Given the description of an element on the screen output the (x, y) to click on. 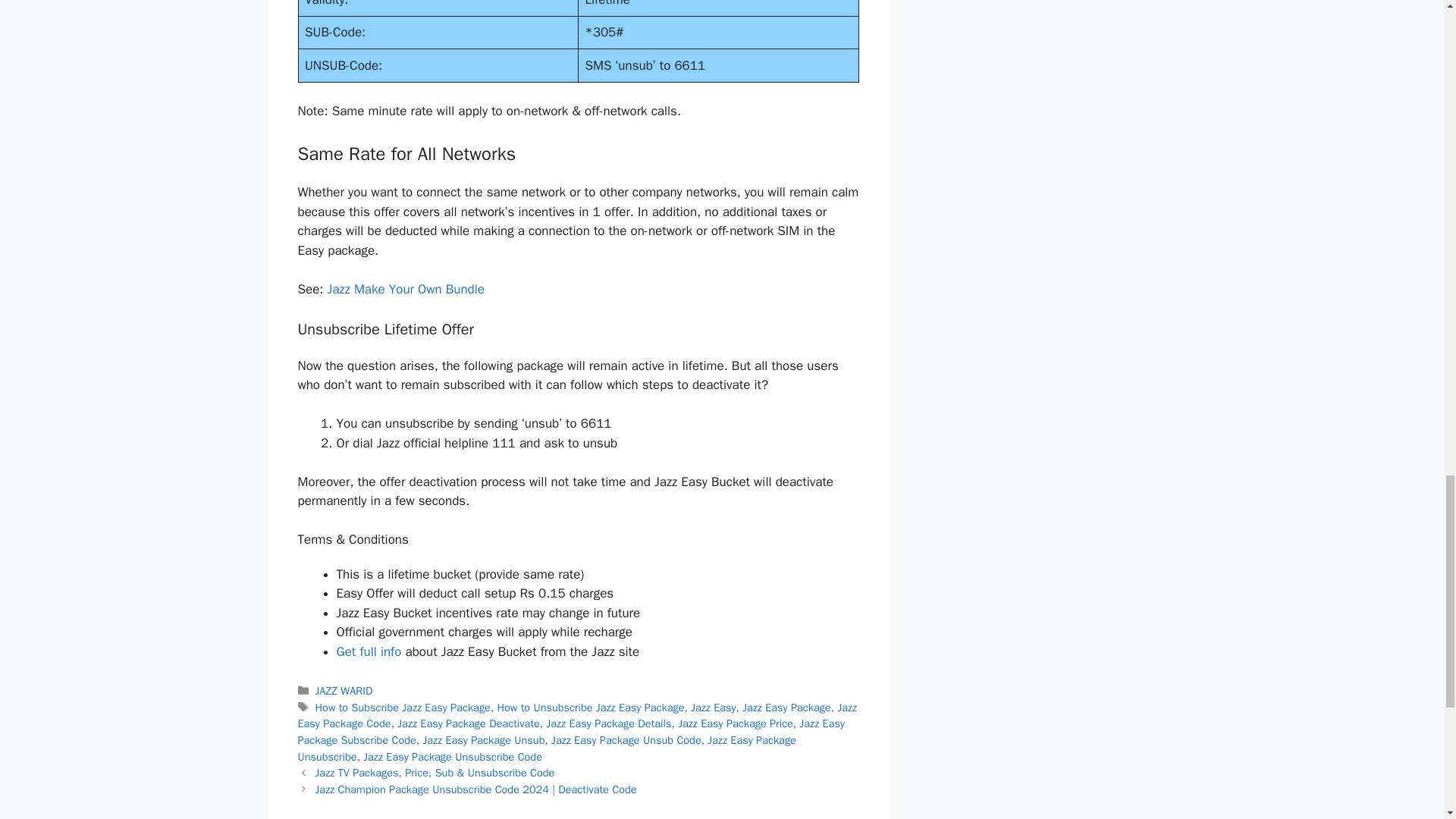
Jazz Easy Package Details (608, 723)
Jazz Easy Package Price (735, 723)
Jazz Easy Package Deactivate (467, 723)
Jazz Easy Package (786, 707)
Jazz Easy Package Unsub Code (626, 739)
Jazz Easy Package Unsub (483, 739)
Jazz Easy Package Code (577, 716)
Jazz Easy Package Subscribe Code (570, 731)
Jazz Easy Package Unsubscribe (545, 748)
JAZZ WARID (343, 690)
